Given the description of an element on the screen output the (x, y) to click on. 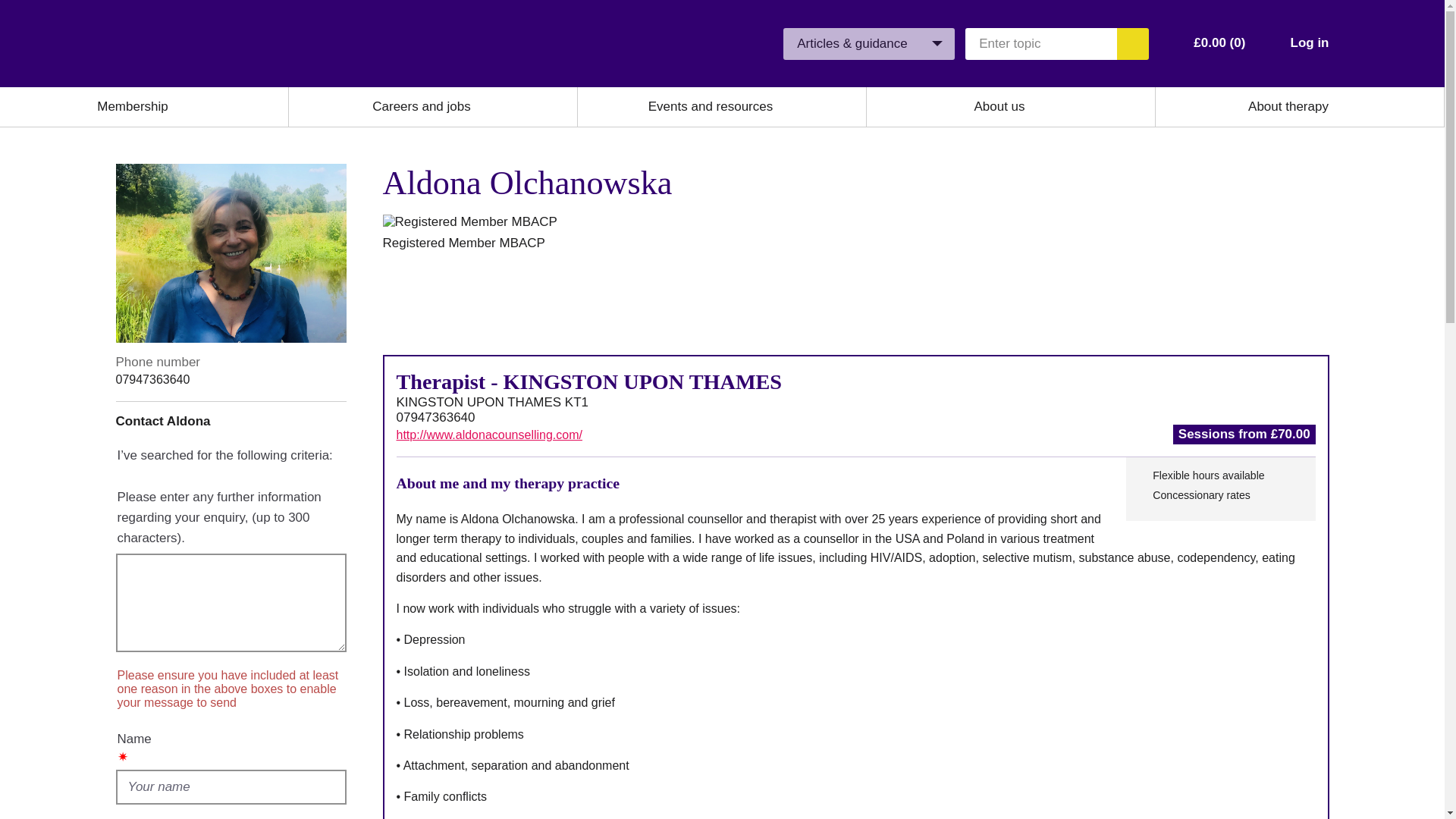
Events and resources (710, 106)
Careers and jobs (421, 106)
Membership (132, 106)
Log in (1309, 42)
Search the BACP website (1132, 42)
